Given the description of an element on the screen output the (x, y) to click on. 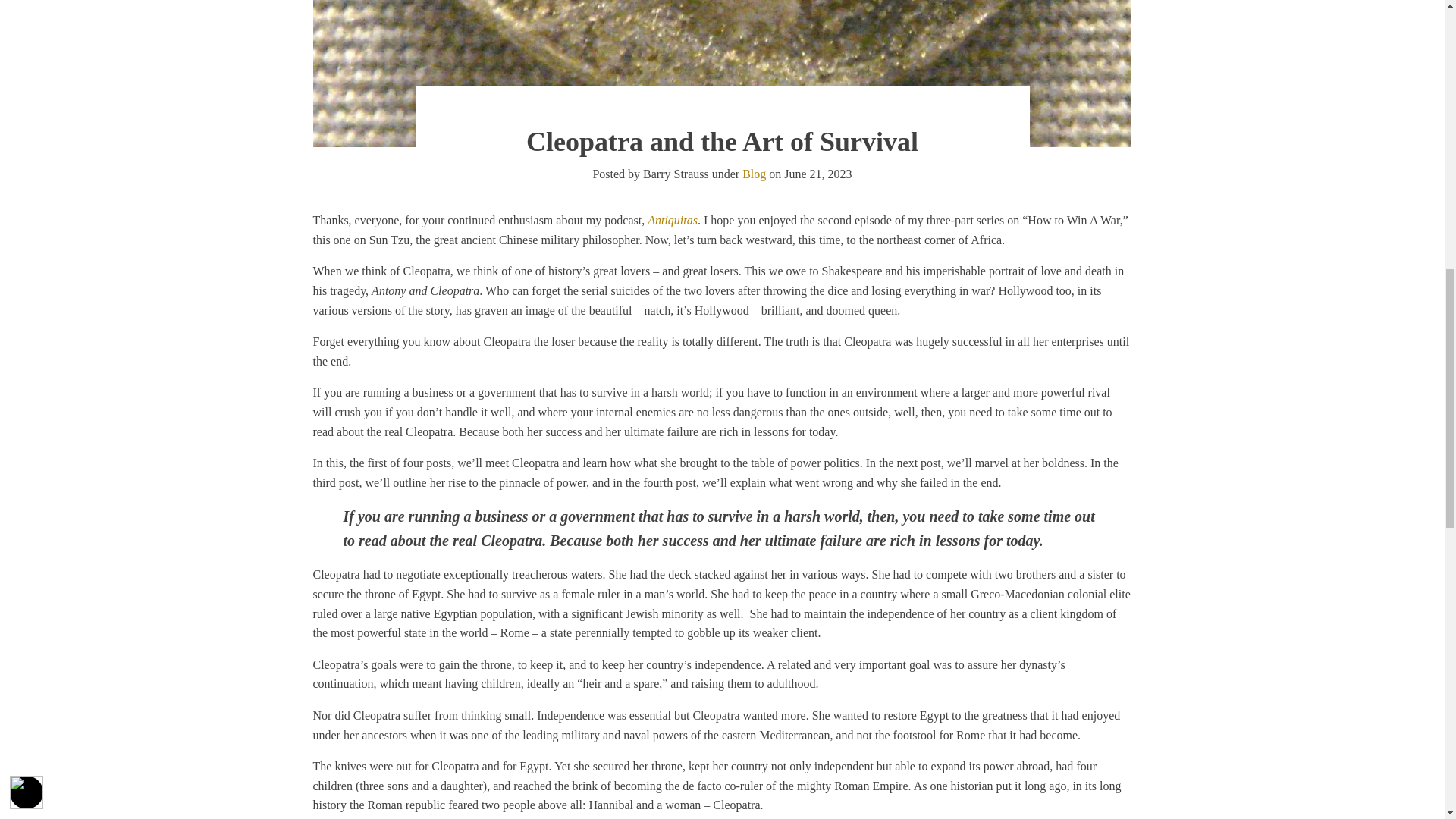
Blog (753, 173)
PHGCOM, Public domain, via Wikimedia Commons (722, 73)
Antiquitas (672, 219)
